Given the description of an element on the screen output the (x, y) to click on. 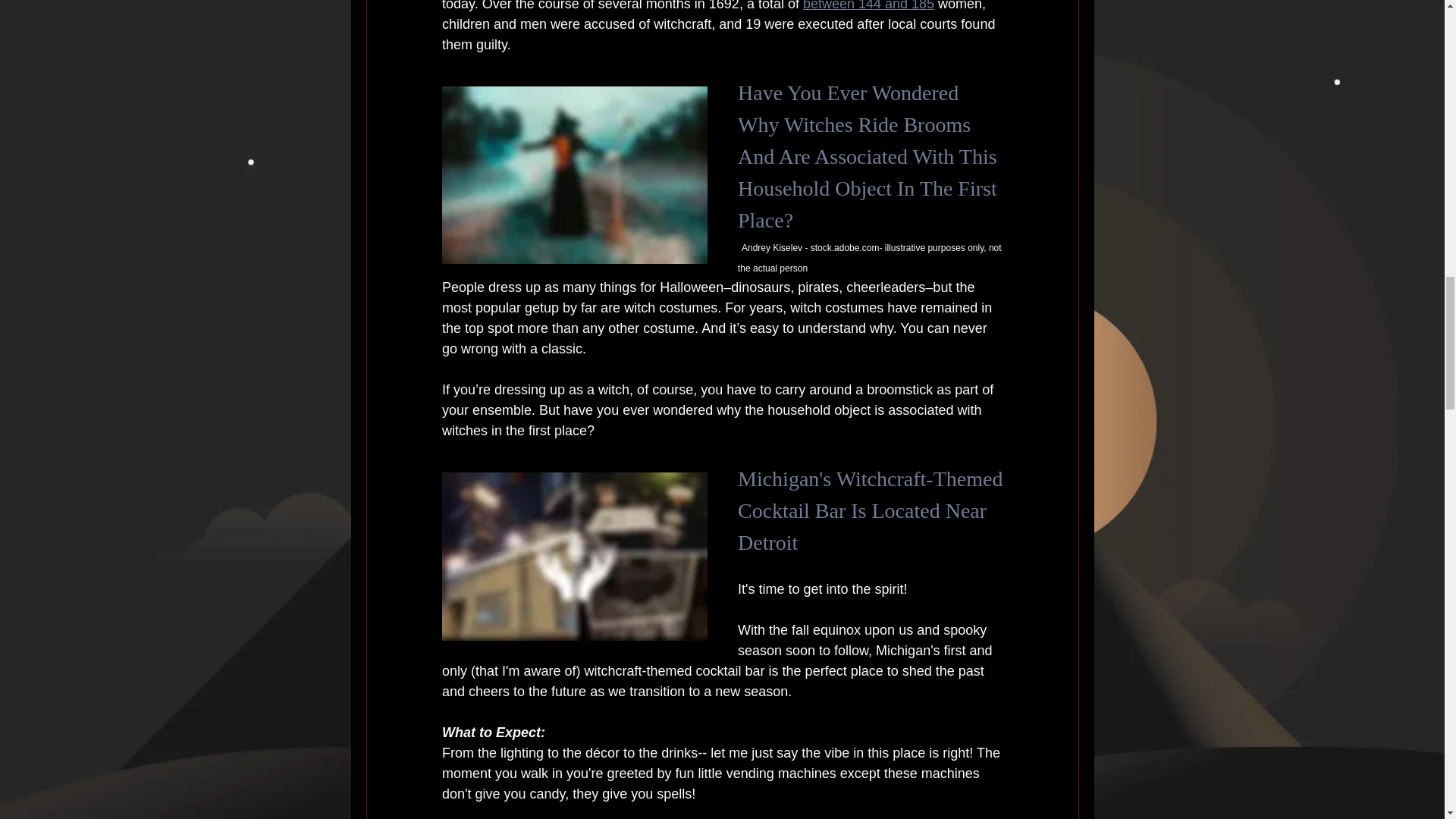
between 144 and 185 (867, 5)
